Given the description of an element on the screen output the (x, y) to click on. 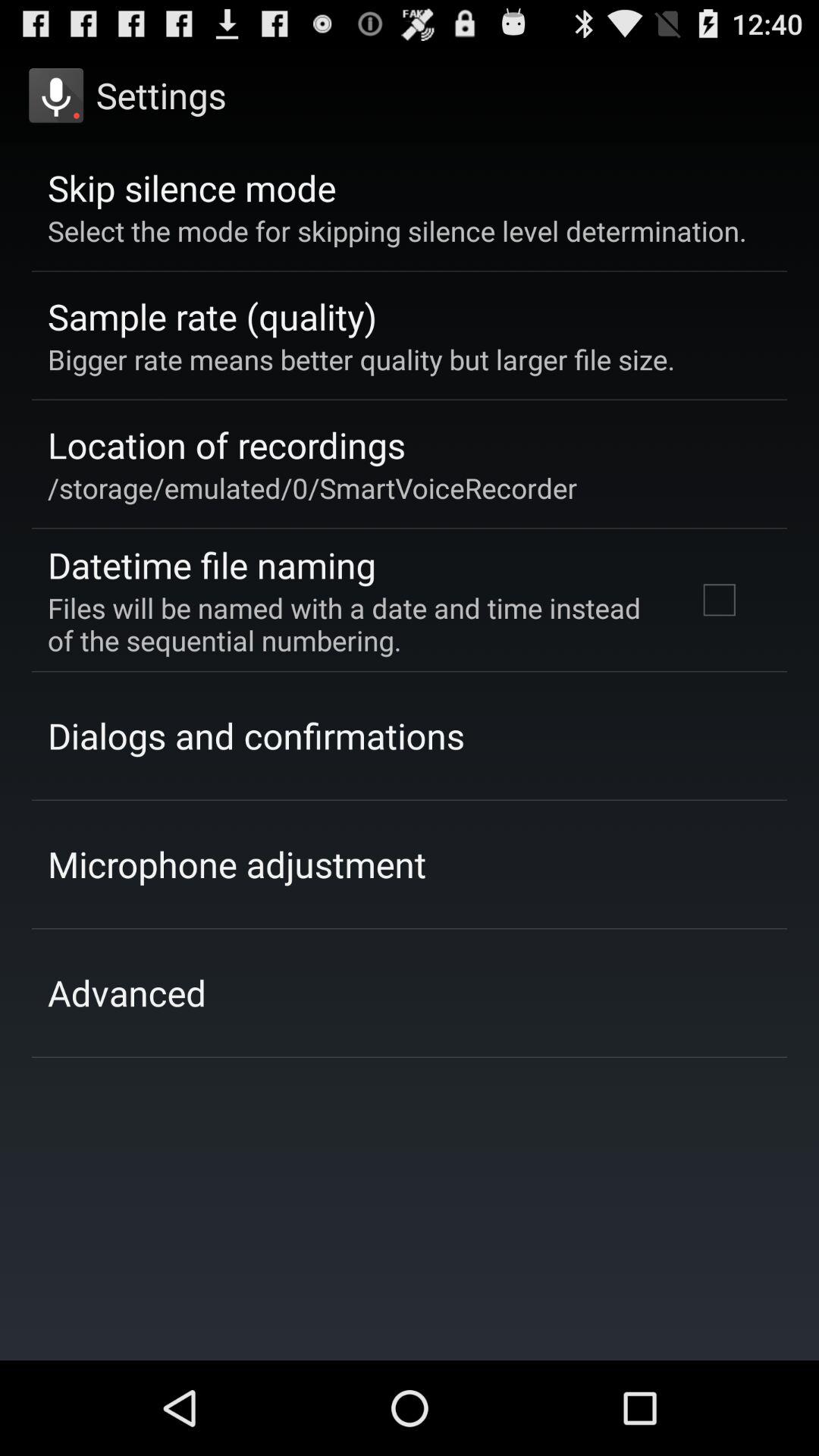
launch the app below sample rate (quality) (361, 359)
